Given the description of an element on the screen output the (x, y) to click on. 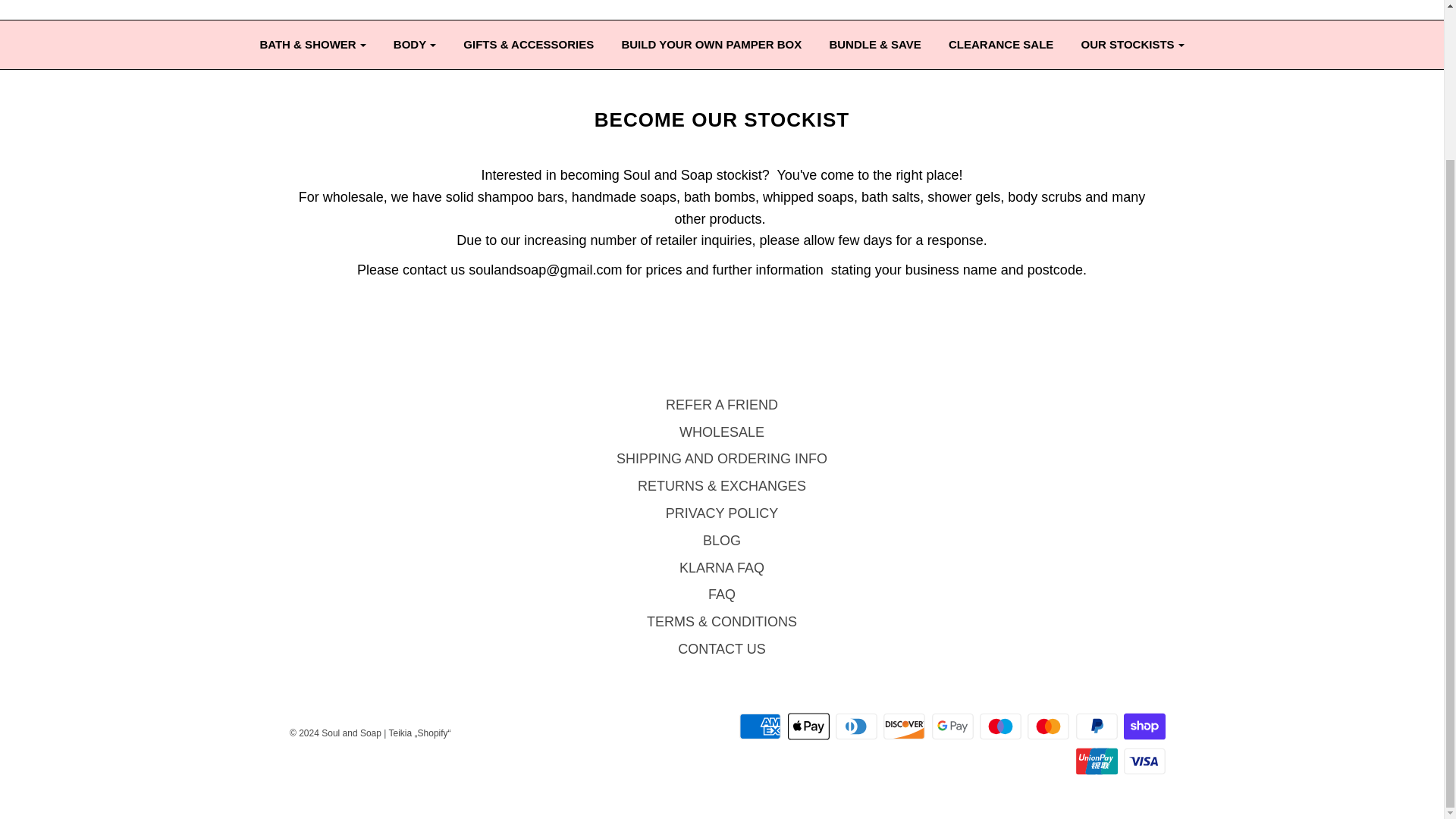
Maestro (1000, 726)
Apple Pay (808, 726)
PayPal (1096, 726)
REFER A FRIEND (721, 407)
BODY (413, 43)
Union Pay (1096, 761)
BUILD YOUR OWN PAMPER BOX (711, 43)
Diners Club (856, 726)
Shop Pay (1145, 726)
Discover (903, 726)
CLEARANCE SALE (1000, 43)
OUR STOCKISTS (1132, 43)
Visa (1145, 761)
Mastercard (1047, 726)
Google Pay (952, 726)
